Given the description of an element on the screen output the (x, y) to click on. 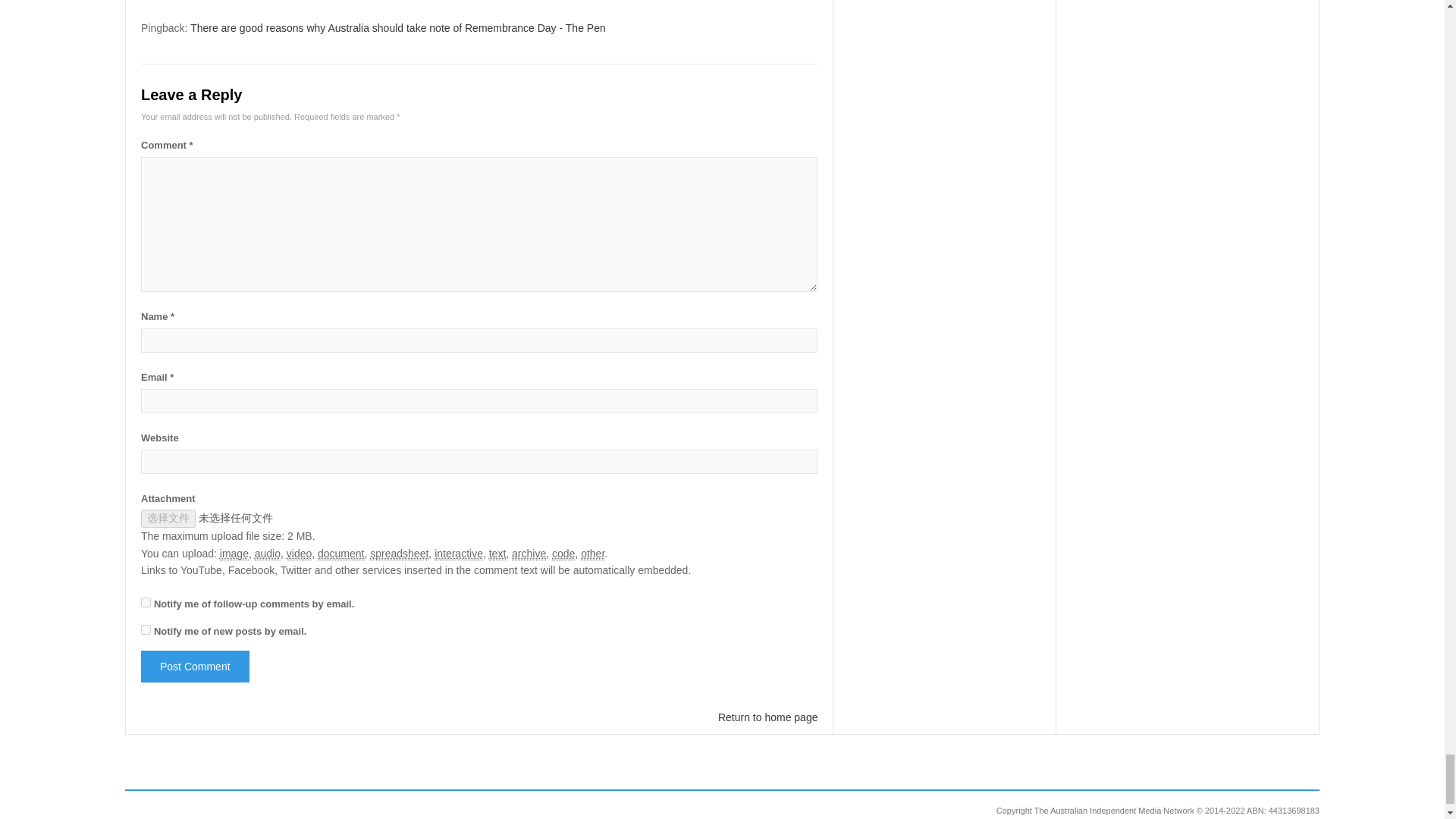
subscribe (146, 602)
Post Comment (194, 666)
subscribe (146, 629)
